Given the description of an element on the screen output the (x, y) to click on. 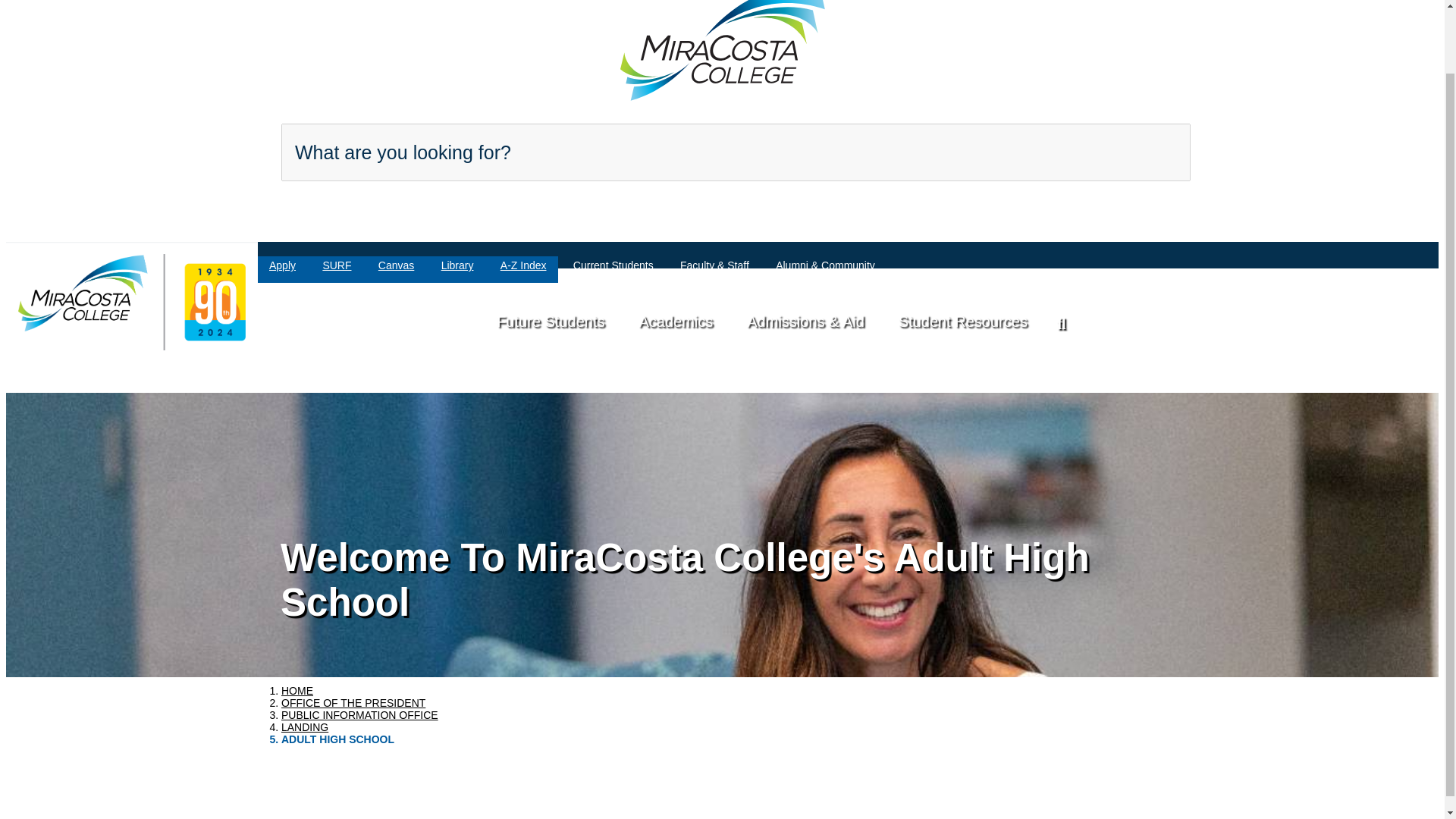
What are you looking for? (736, 151)
Current MiraCosta Student Resources (613, 266)
Library (457, 266)
Search (1117, 149)
Submit (1117, 174)
Canvas is MiraCosta College's LMS (395, 266)
Future Students (549, 319)
Academics (675, 319)
SURF (336, 266)
Canvas (395, 266)
